Given the description of an element on the screen output the (x, y) to click on. 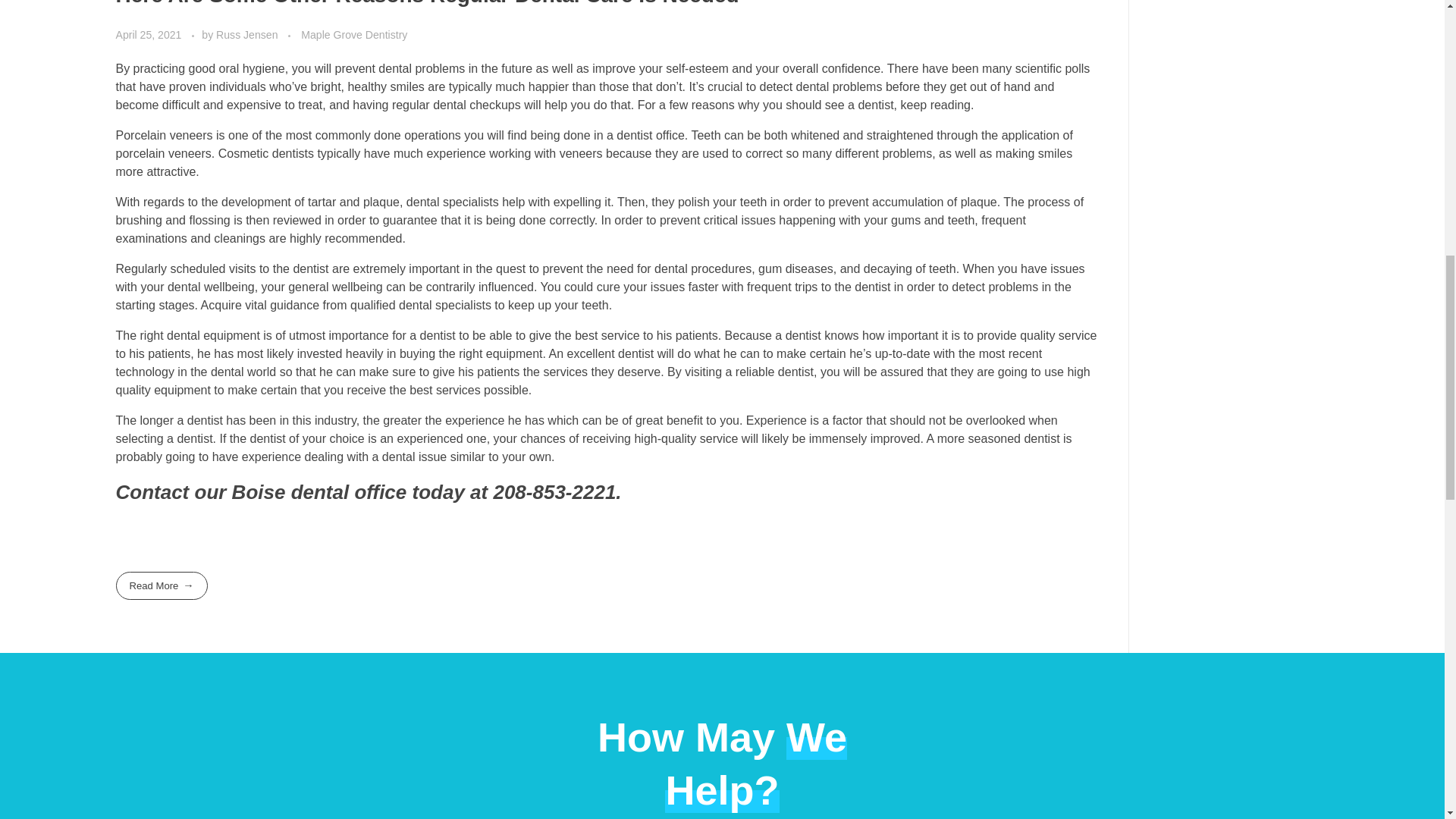
View all posts in Maple Grove Dentistry (354, 35)
April 25, 2021 (149, 34)
Read More (160, 585)
Maple Grove Dentistry (354, 35)
View all posts by Russ Jensen (248, 34)
Russ Jensen (248, 34)
